Given the description of an element on the screen output the (x, y) to click on. 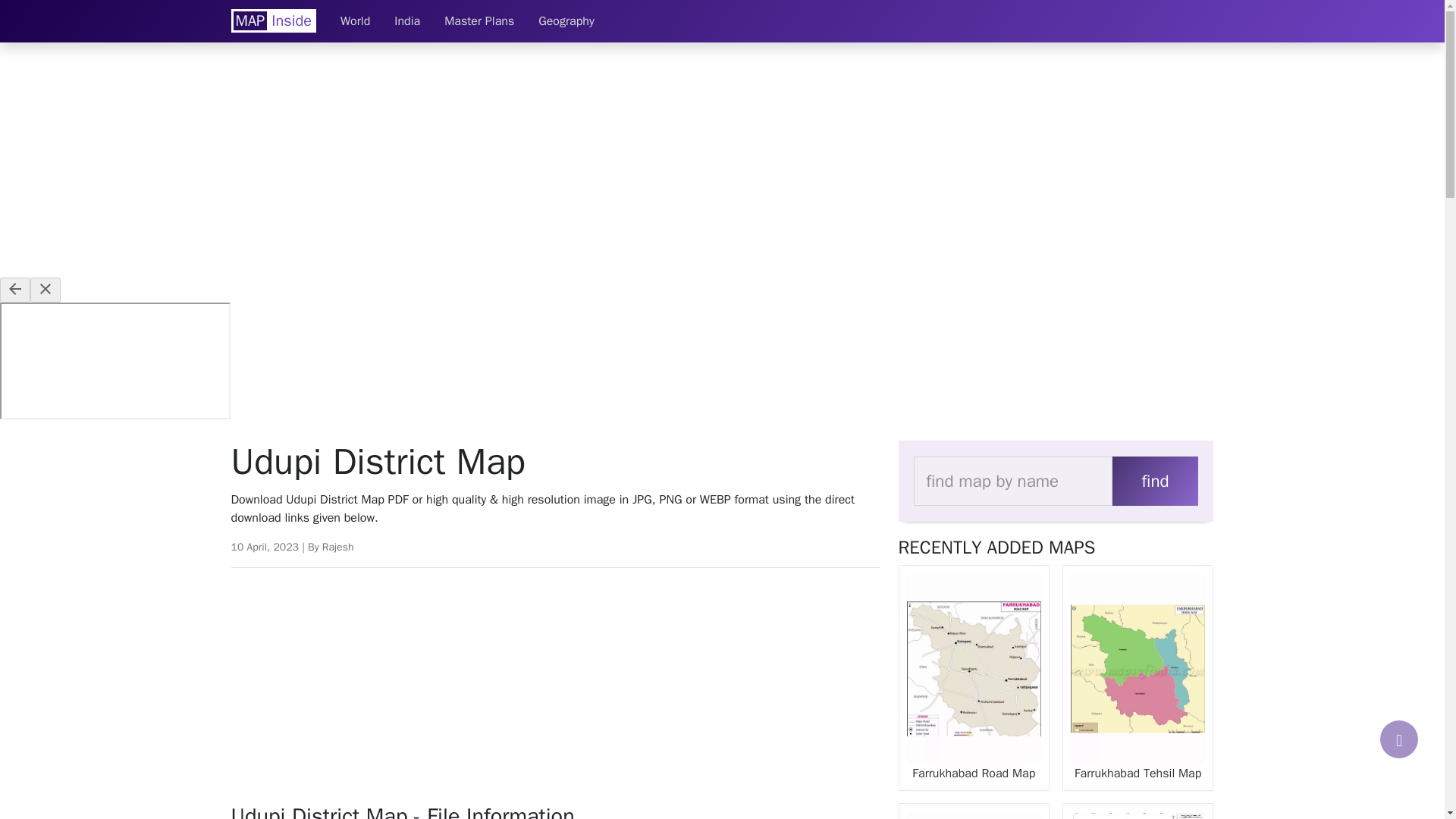
Master Plans (478, 20)
World (355, 20)
Geography (566, 20)
Udupi District Map (554, 462)
MAPInside (272, 20)
India (406, 20)
find (1154, 481)
Farrukhabad Railway Map (973, 811)
